Given the description of an element on the screen output the (x, y) to click on. 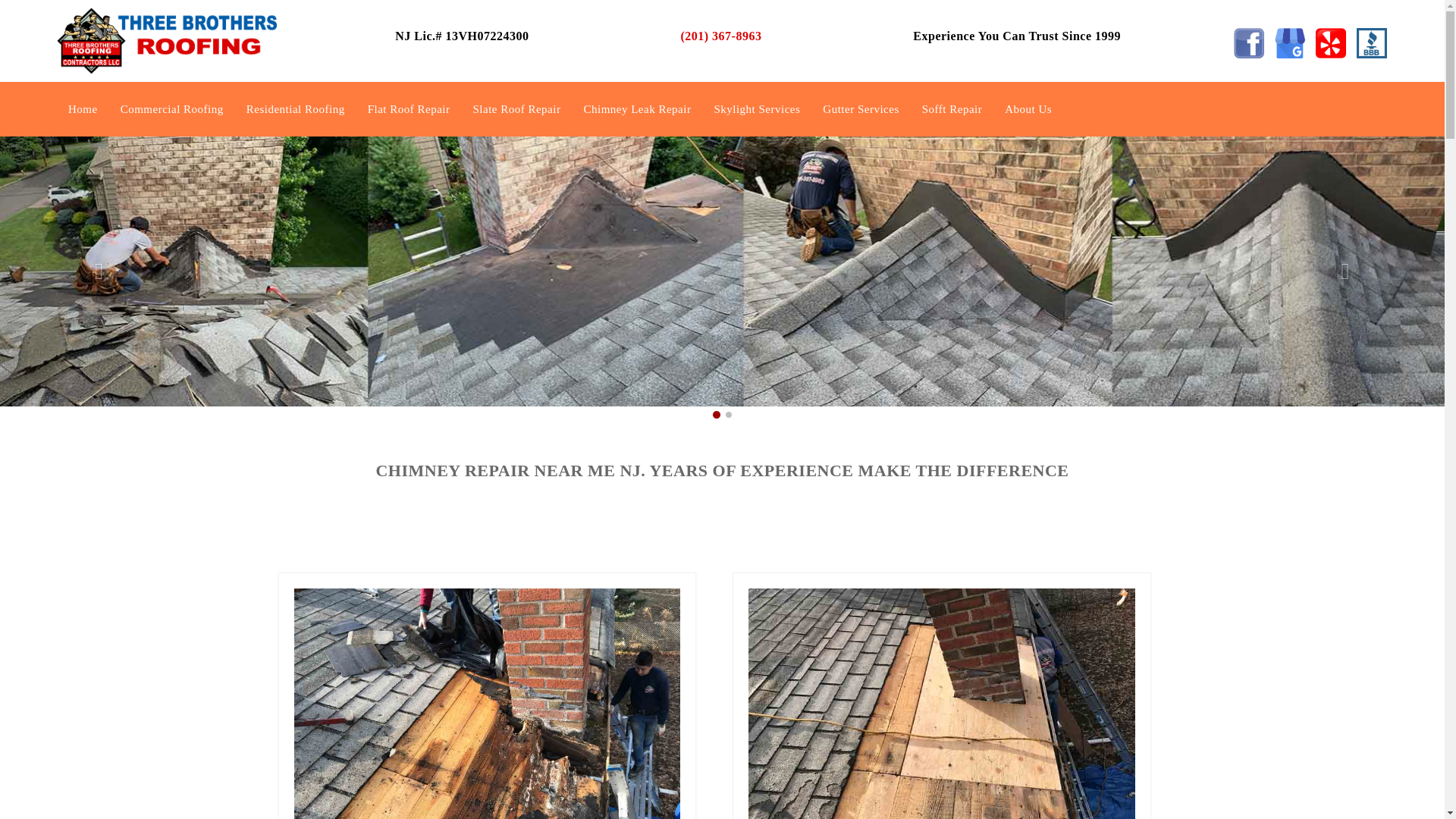
Experience You Can Trust Since 1999  (1018, 36)
Social Media (1371, 42)
Residential Roofing (295, 109)
Sofft Repair (952, 109)
Home (82, 109)
Residential Roofing (295, 109)
Home (82, 109)
Commercial Roofing (172, 109)
Gutter Services (860, 109)
Flat Roof Repair (408, 109)
Chimney Leak Repair (636, 109)
Skylight Services (757, 109)
Commercial Roofing (172, 109)
Skylight Services (757, 109)
